Given the description of an element on the screen output the (x, y) to click on. 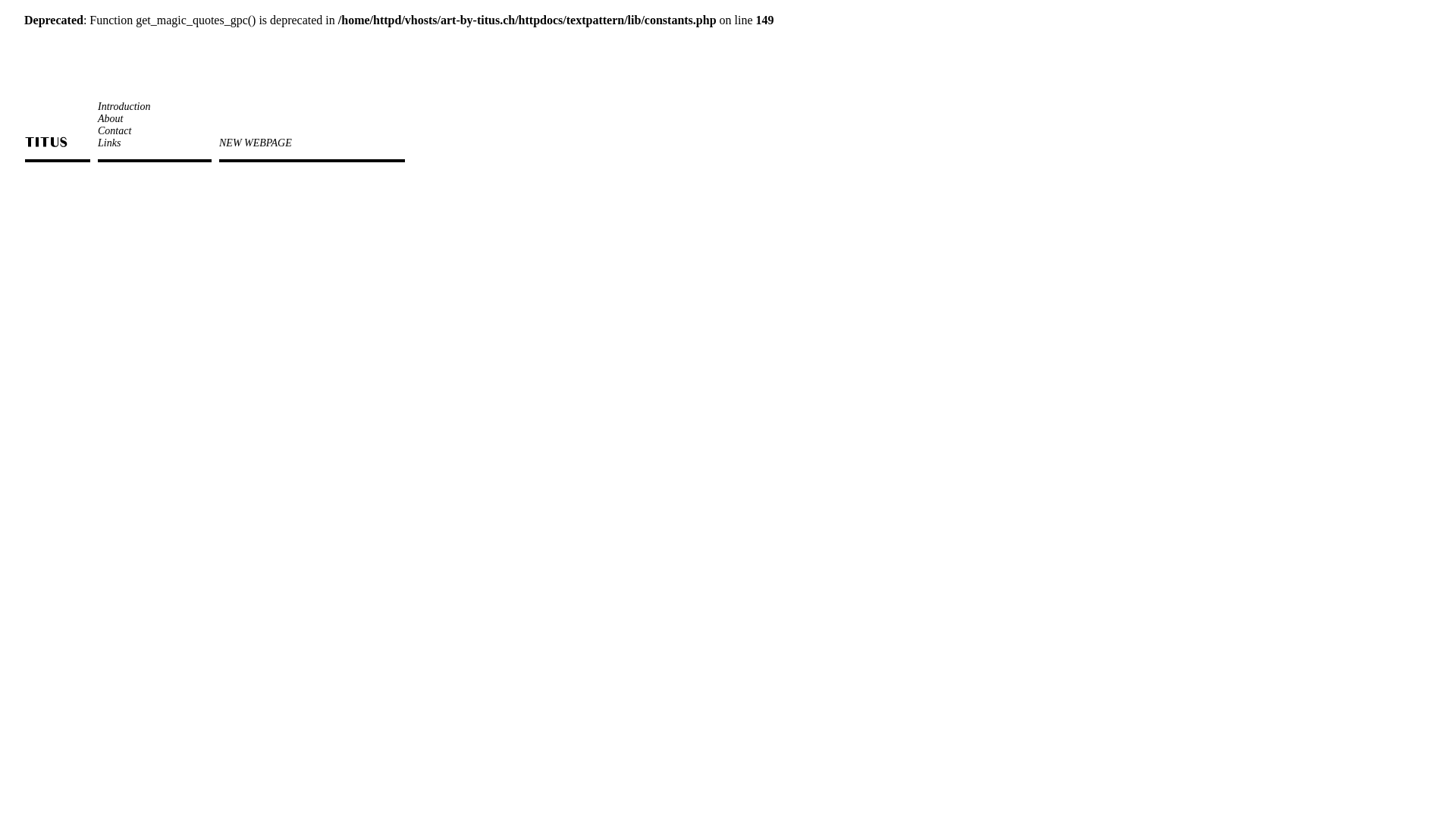
NEW WEBPAGE Element type: text (255, 142)
Introduction Element type: text (123, 106)
About Element type: text (109, 118)
Contact Element type: text (114, 130)
Links Element type: text (108, 142)
